Given the description of an element on the screen output the (x, y) to click on. 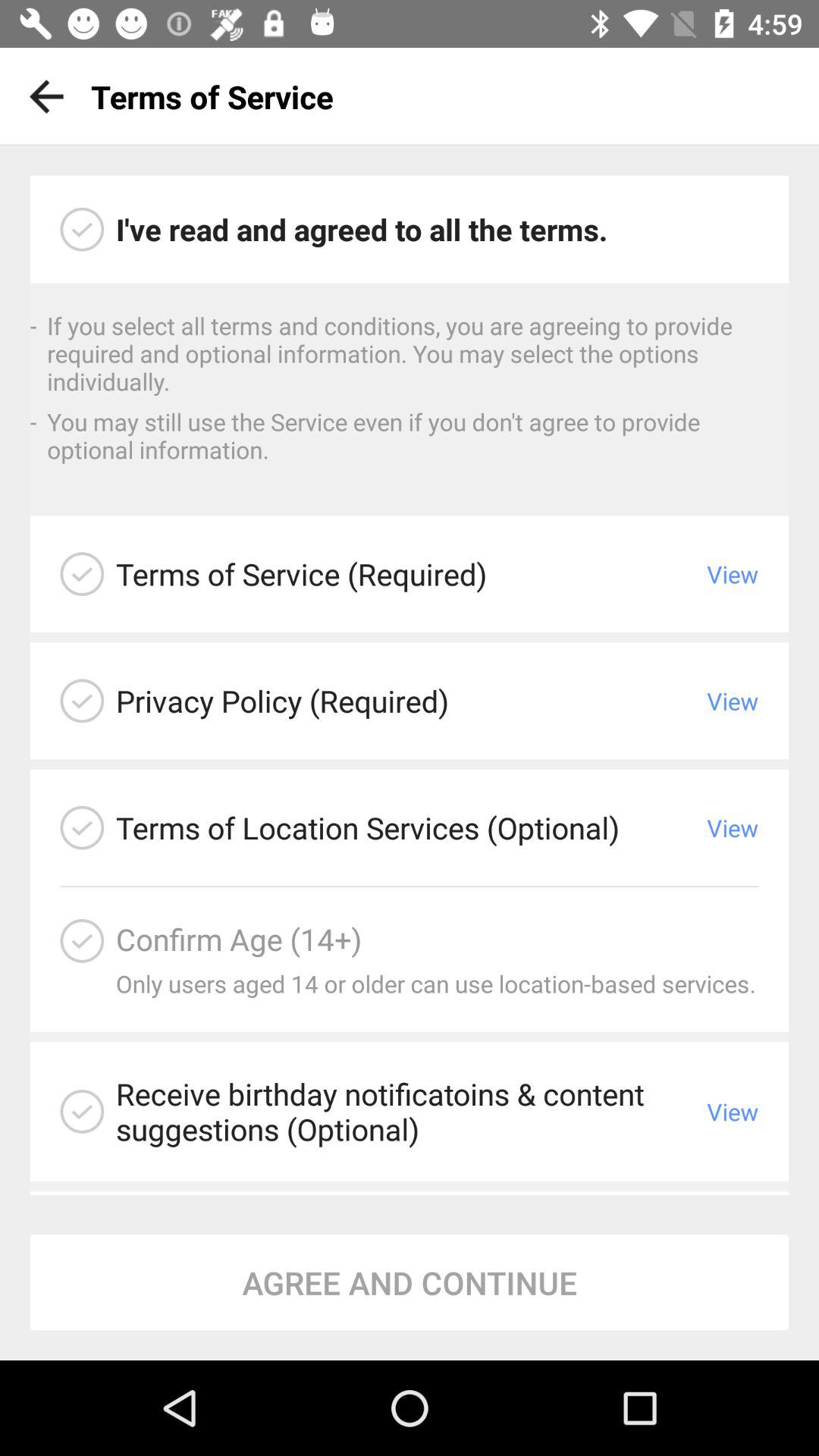
check to agree (82, 229)
